Given the description of an element on the screen output the (x, y) to click on. 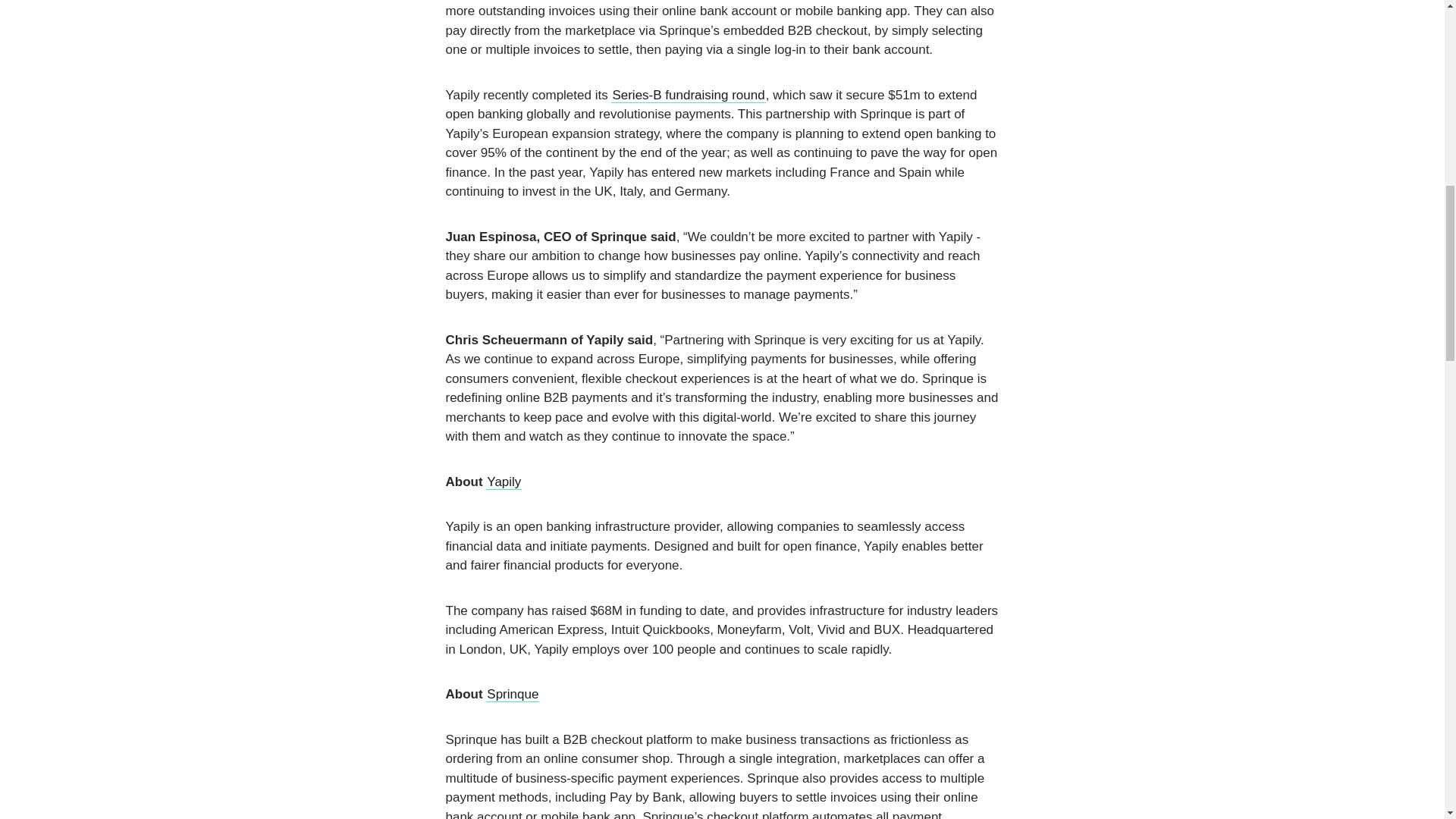
Series B Fundraising (688, 95)
Yapily (503, 482)
End-to-end B2B payments for merchants and marketplaces (512, 694)
